Given the description of an element on the screen output the (x, y) to click on. 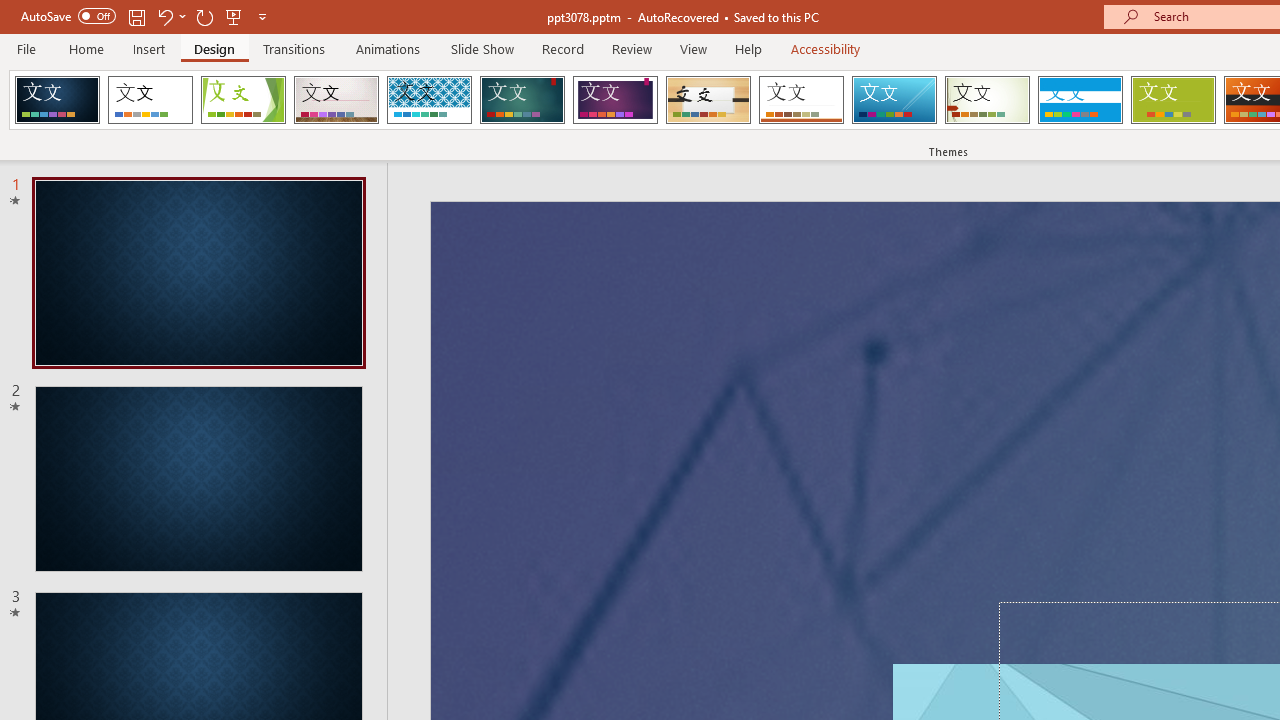
Gallery (336, 100)
Retrospect (801, 100)
Damask (57, 100)
Ion Boardroom (615, 100)
